Given the description of an element on the screen output the (x, y) to click on. 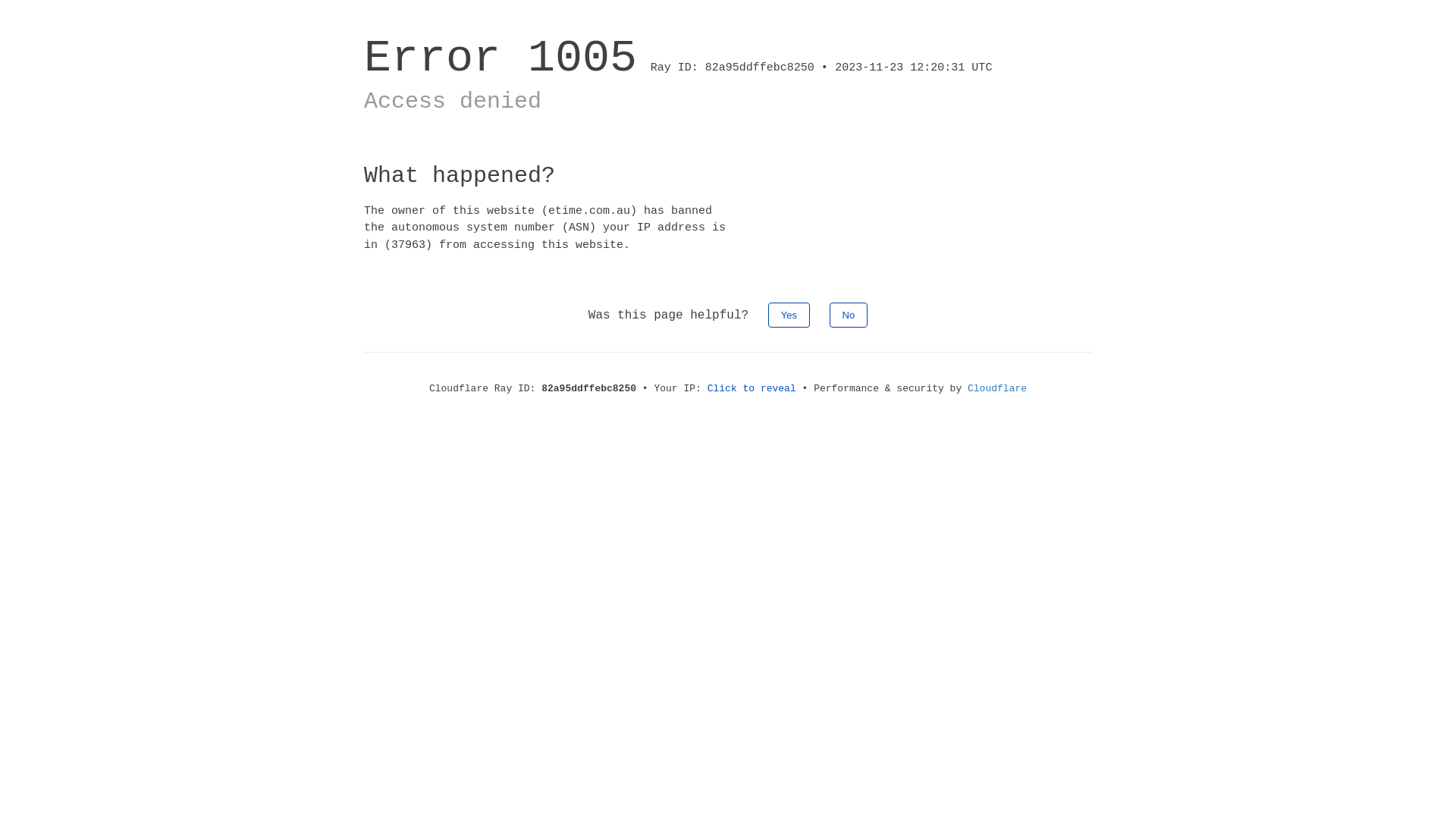
Yes Element type: text (788, 314)
No Element type: text (848, 314)
Cloudflare Element type: text (996, 388)
Click to reveal Element type: text (751, 388)
